Given the description of an element on the screen output the (x, y) to click on. 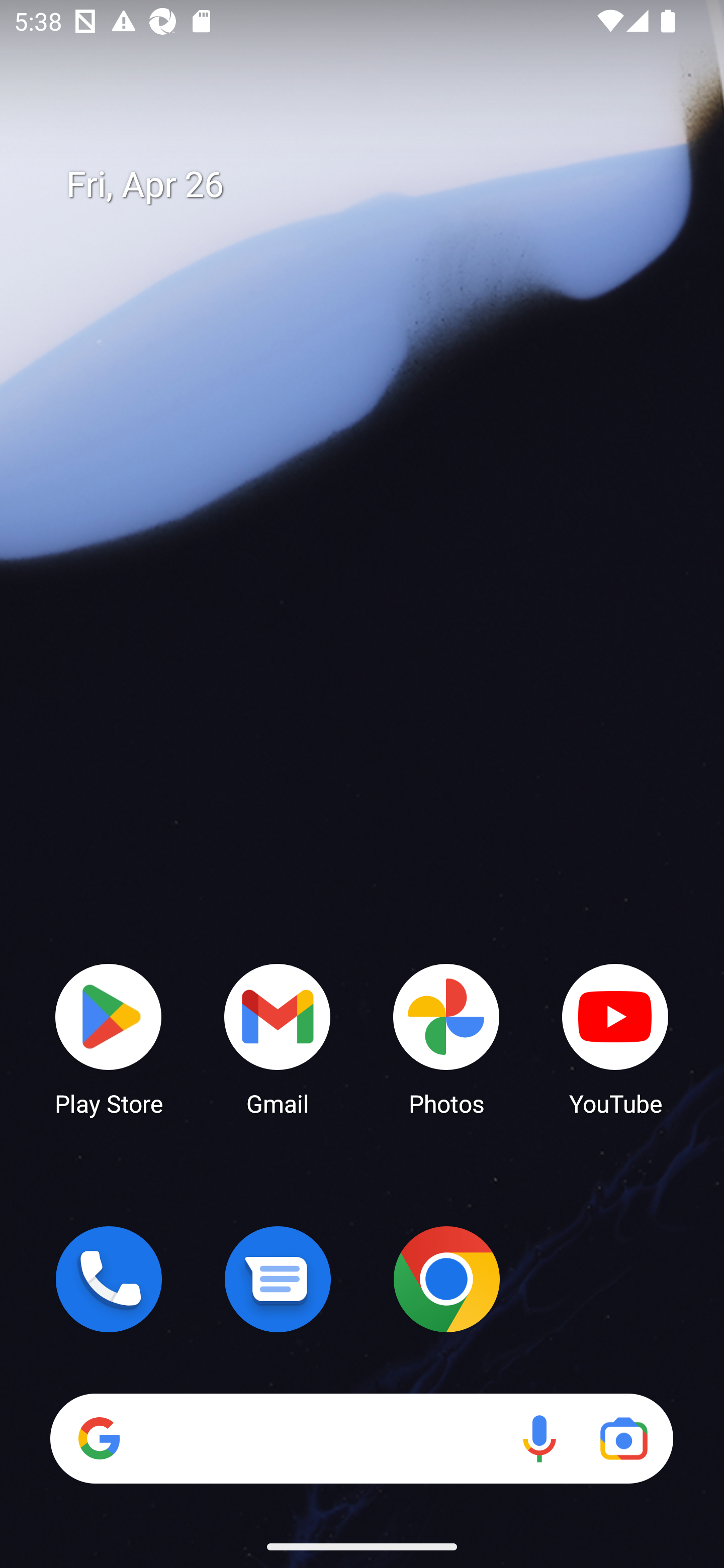
Fri, Apr 26 (375, 184)
Play Store (108, 1038)
Gmail (277, 1038)
Photos (445, 1038)
YouTube (615, 1038)
Phone (108, 1279)
Messages (277, 1279)
Chrome (446, 1279)
Search Voice search Google Lens (361, 1438)
Voice search (539, 1438)
Google Lens (623, 1438)
